Given the description of an element on the screen output the (x, y) to click on. 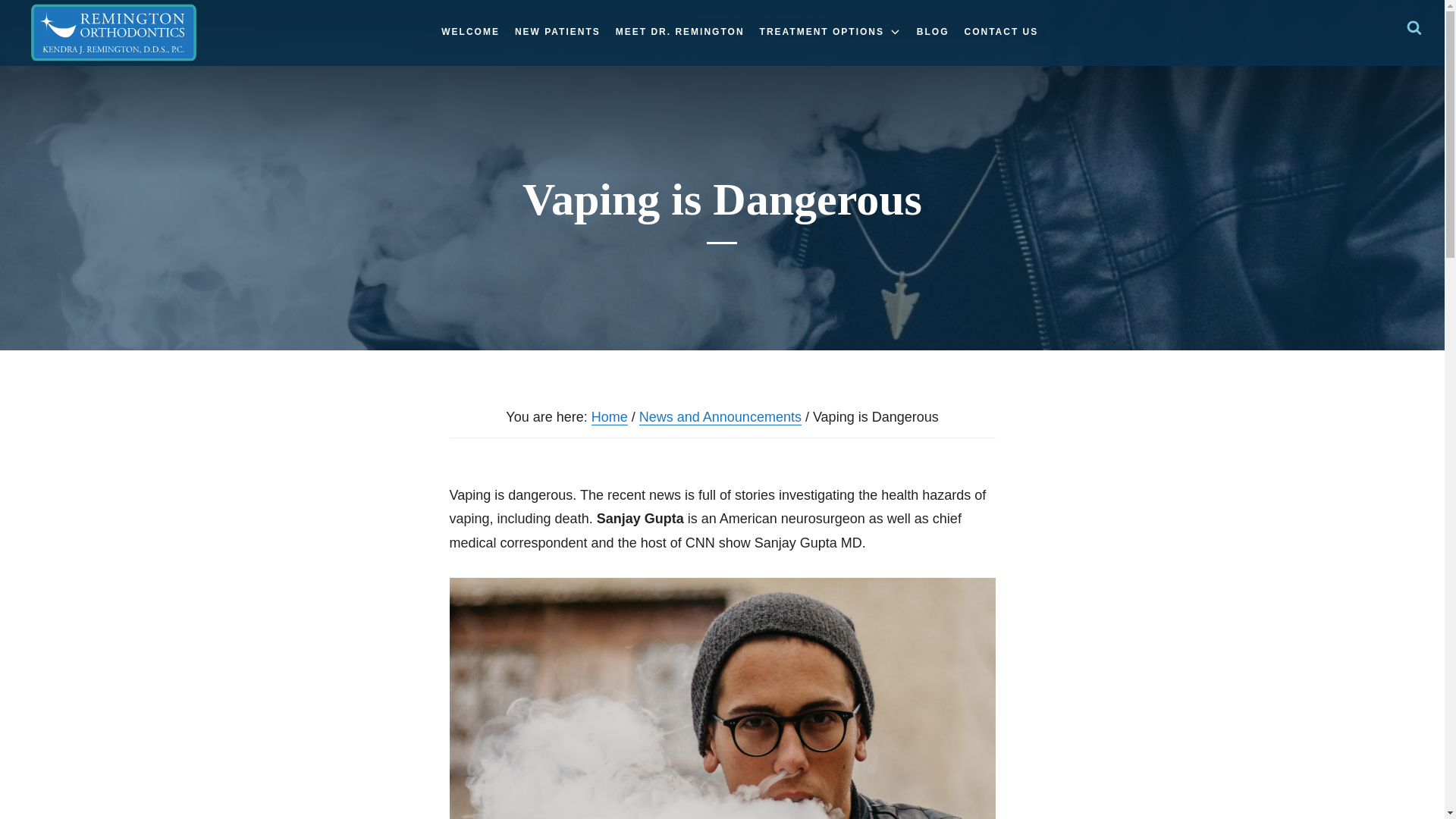
WELCOME (469, 31)
MEET DR. REMINGTON (680, 31)
TREATMENT OPTIONS (830, 32)
CONTACT US (1000, 31)
News and Announcements (720, 417)
REMINGTON SMILES - KENDRA J. REMINGTON, DDS (114, 32)
NEW PATIENTS (557, 31)
Home (609, 417)
